Given the description of an element on the screen output the (x, y) to click on. 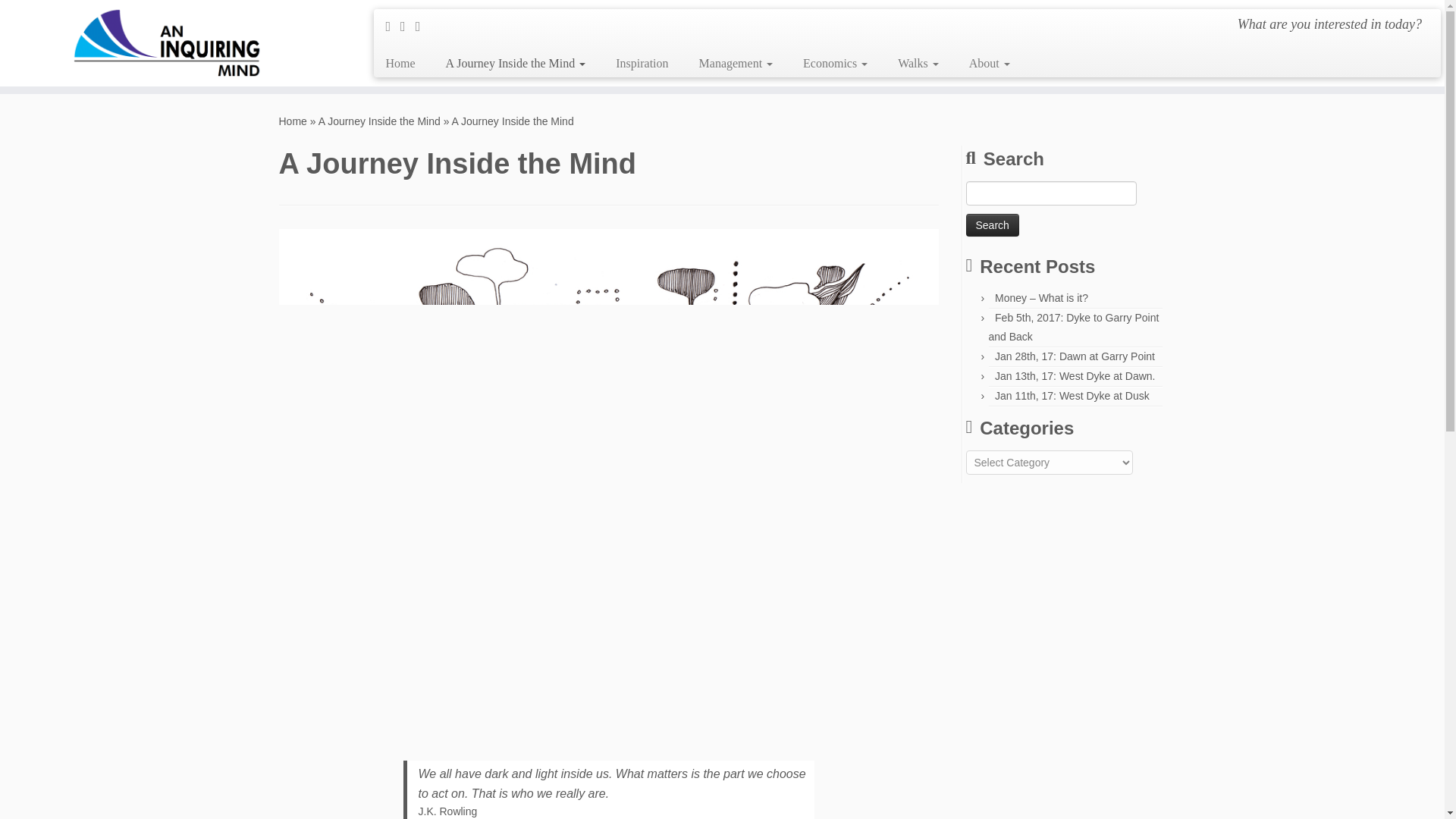
Inspiration (640, 62)
Home (293, 121)
About (981, 62)
Management (736, 62)
Home (405, 62)
An Inquiring Mind (293, 121)
A Journey Inside the Mind (379, 121)
E-mail (392, 26)
Search (992, 224)
Inside the Mind (609, 472)
